Given the description of an element on the screen output the (x, y) to click on. 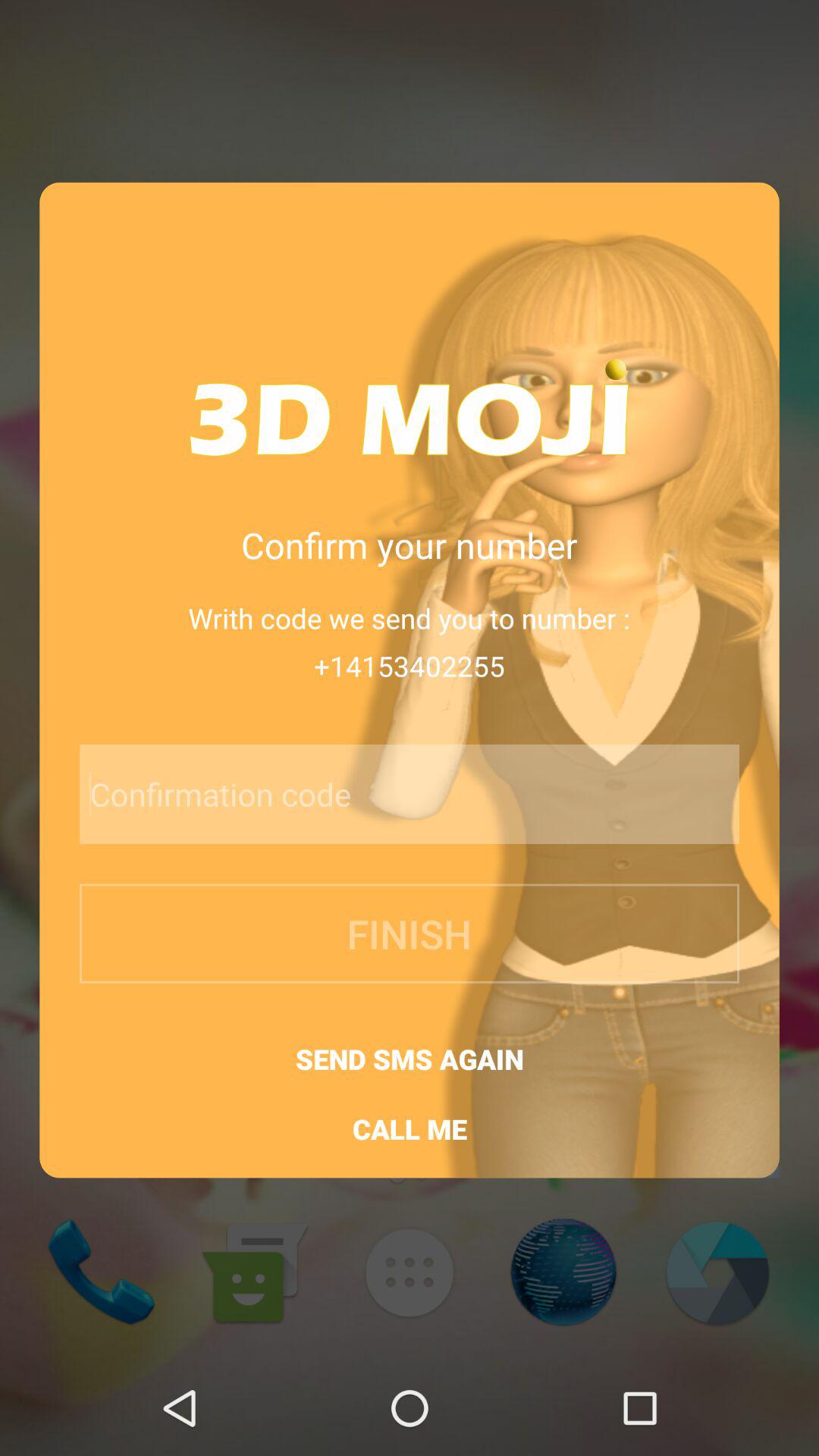
enter confirmation code (369, 794)
